Given the description of an element on the screen output the (x, y) to click on. 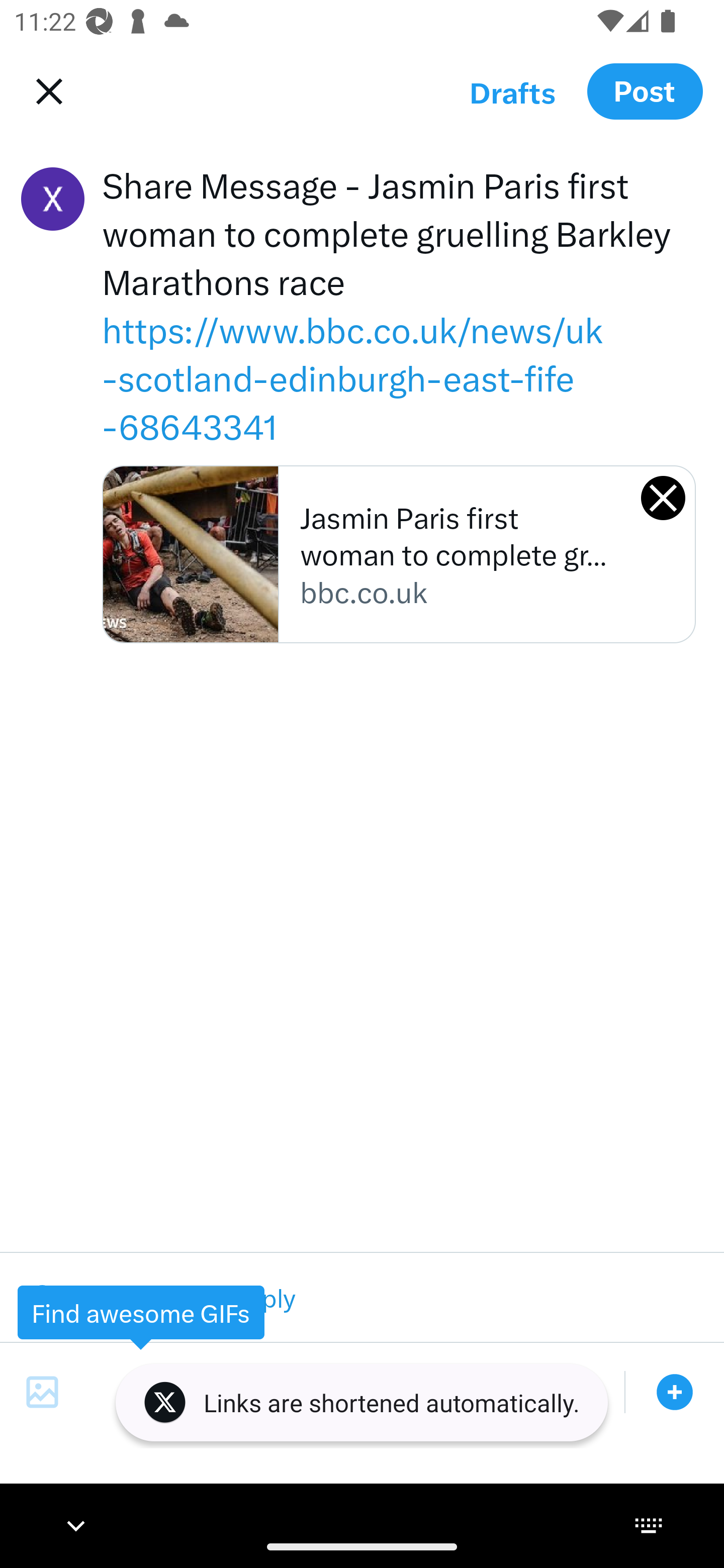
Navigate up (45, 91)
POST (645, 90)
Drafts Open Drafts (512, 91)
@testappium20, Switch accounts (52, 198)
Remove Preview (662, 498)
Find awesome GIFs (140, 1312)
Photos (42, 1392)
Add a post (674, 1392)
